Given the description of an element on the screen output the (x, y) to click on. 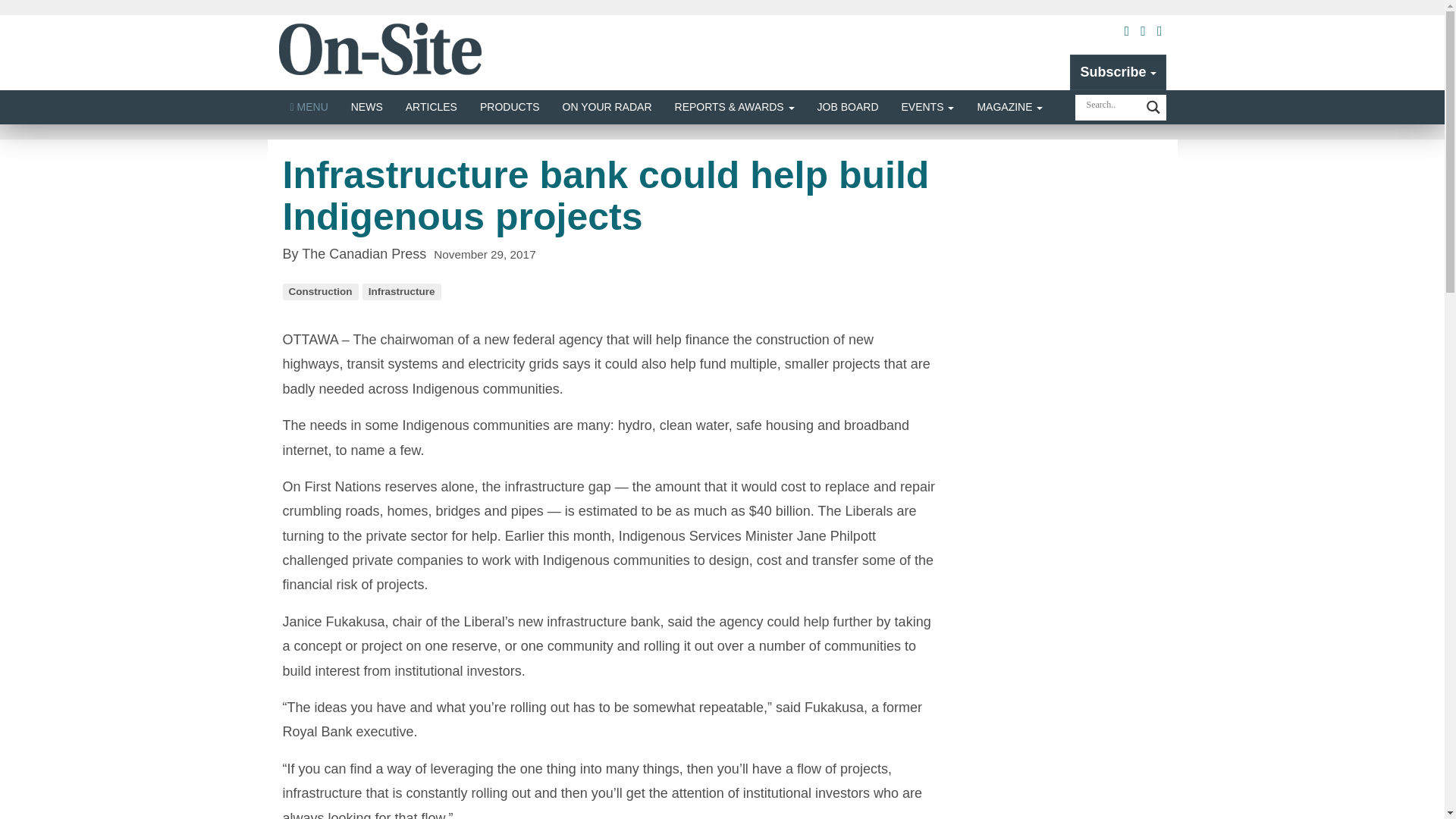
Subscribe (1118, 71)
Click to show site navigation (309, 107)
JOB BOARD (847, 107)
PRODUCTS (509, 107)
MENU (309, 107)
NEWS (366, 107)
MAGAZINE (1009, 107)
ARTICLES (431, 107)
ON YOUR RADAR (607, 107)
On-Site Magazine (381, 48)
